Given the description of an element on the screen output the (x, y) to click on. 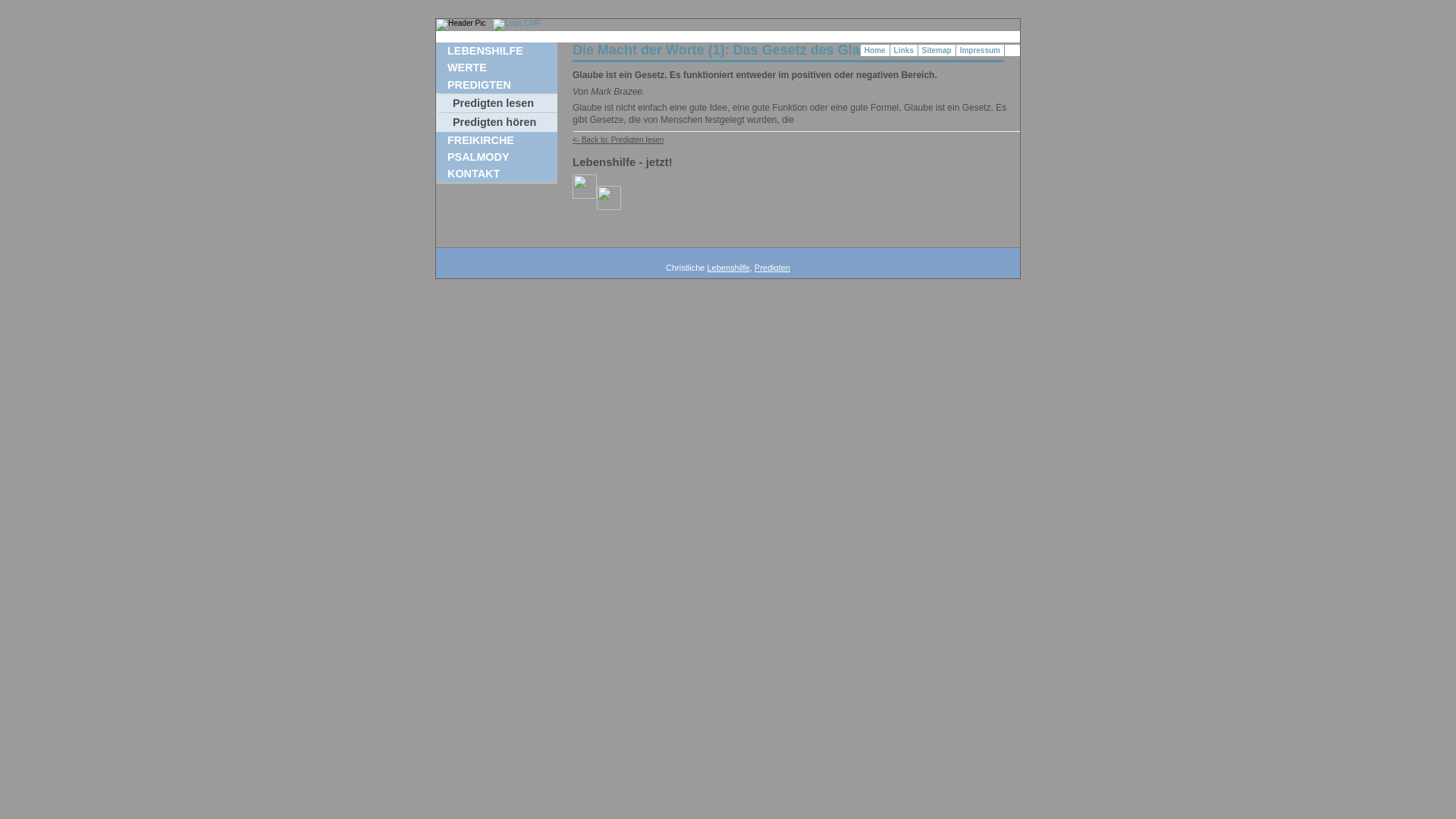
KONTAKT Element type: text (500, 173)
WERTE Element type: text (500, 67)
Lebenshilfe Element type: text (727, 267)
Home Element type: text (875, 50)
Predigten Element type: text (772, 267)
Sitemap Element type: text (937, 50)
Links Element type: text (904, 50)
LEBENSHILFE Element type: text (500, 50)
<- Back to: Predigten lesen Element type: text (617, 139)
FREIKIRCHE Element type: text (500, 140)
PREDIGTEN Element type: text (500, 84)
PSALMODY Element type: text (500, 156)
Predigten lesen Element type: text (496, 102)
Impressum Element type: text (980, 50)
